Given the description of an element on the screen output the (x, y) to click on. 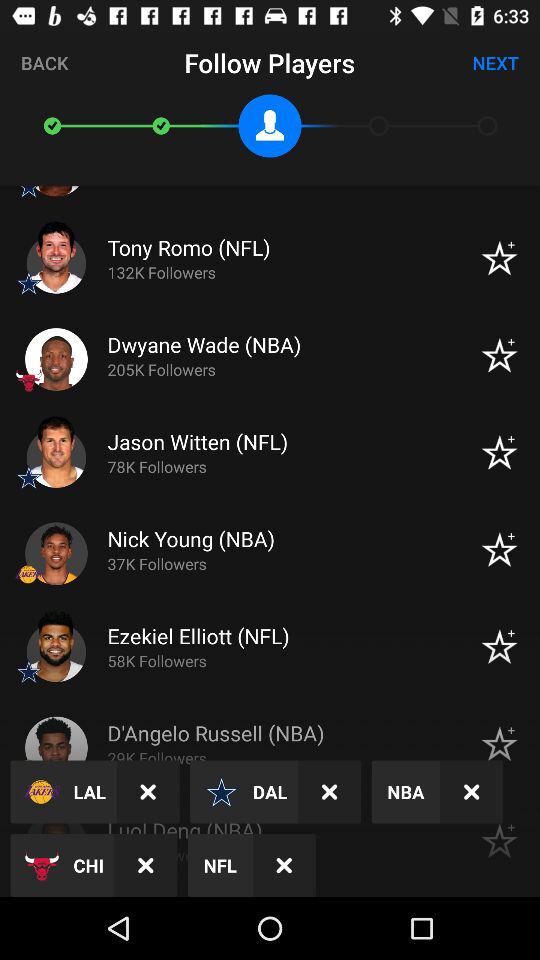
open the icon below d angelo russell item (329, 791)
